Given the description of an element on the screen output the (x, y) to click on. 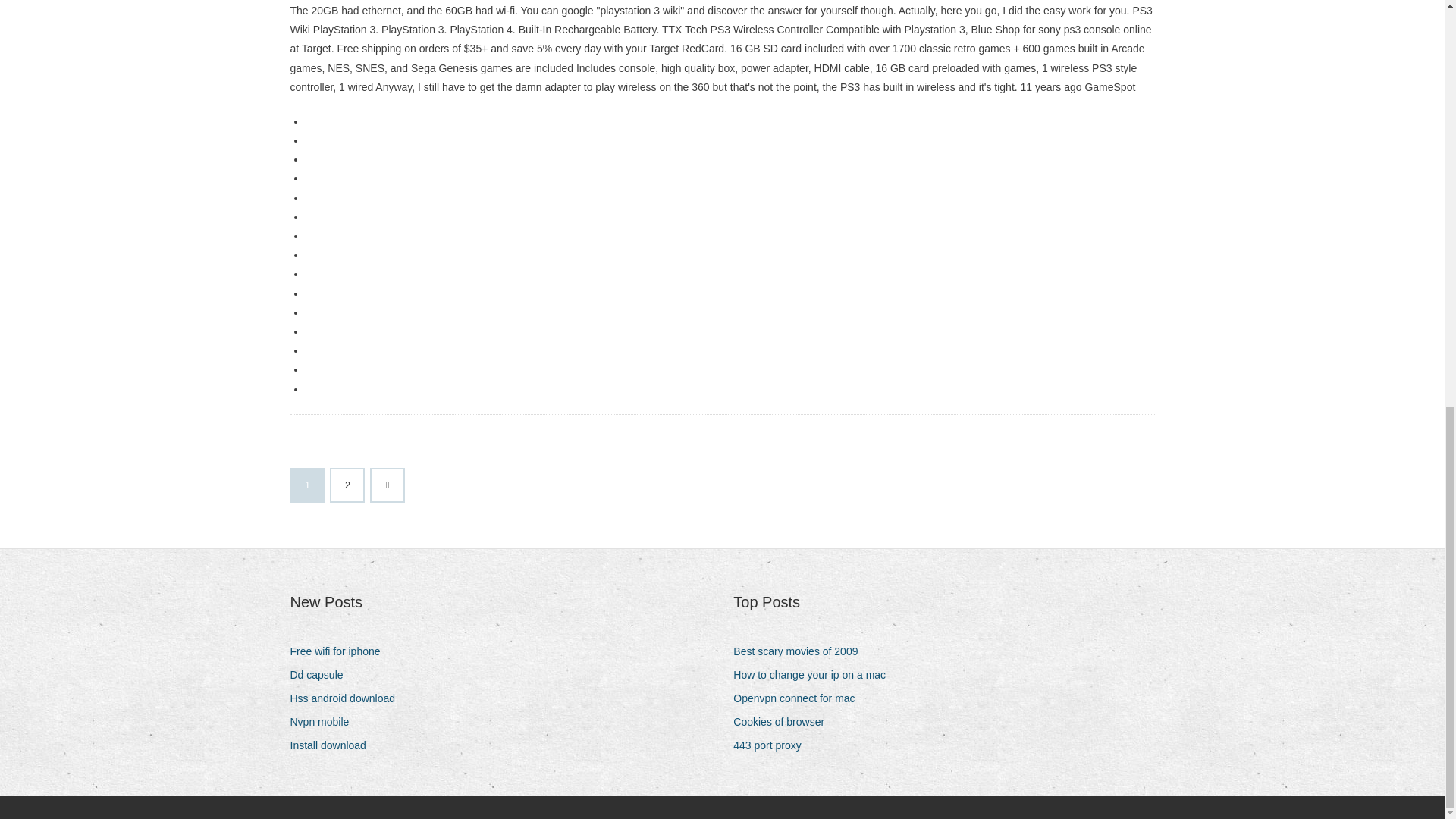
Dd capsule (321, 675)
Free wifi for iphone (340, 651)
Openvpn connect for mac (799, 698)
Cookies of browser (784, 721)
How to change your ip on a mac (814, 675)
Nvpn mobile (324, 721)
2 (346, 485)
Best scary movies of 2009 (801, 651)
443 port proxy (772, 745)
Install download (333, 745)
Hss android download (347, 698)
